Given the description of an element on the screen output the (x, y) to click on. 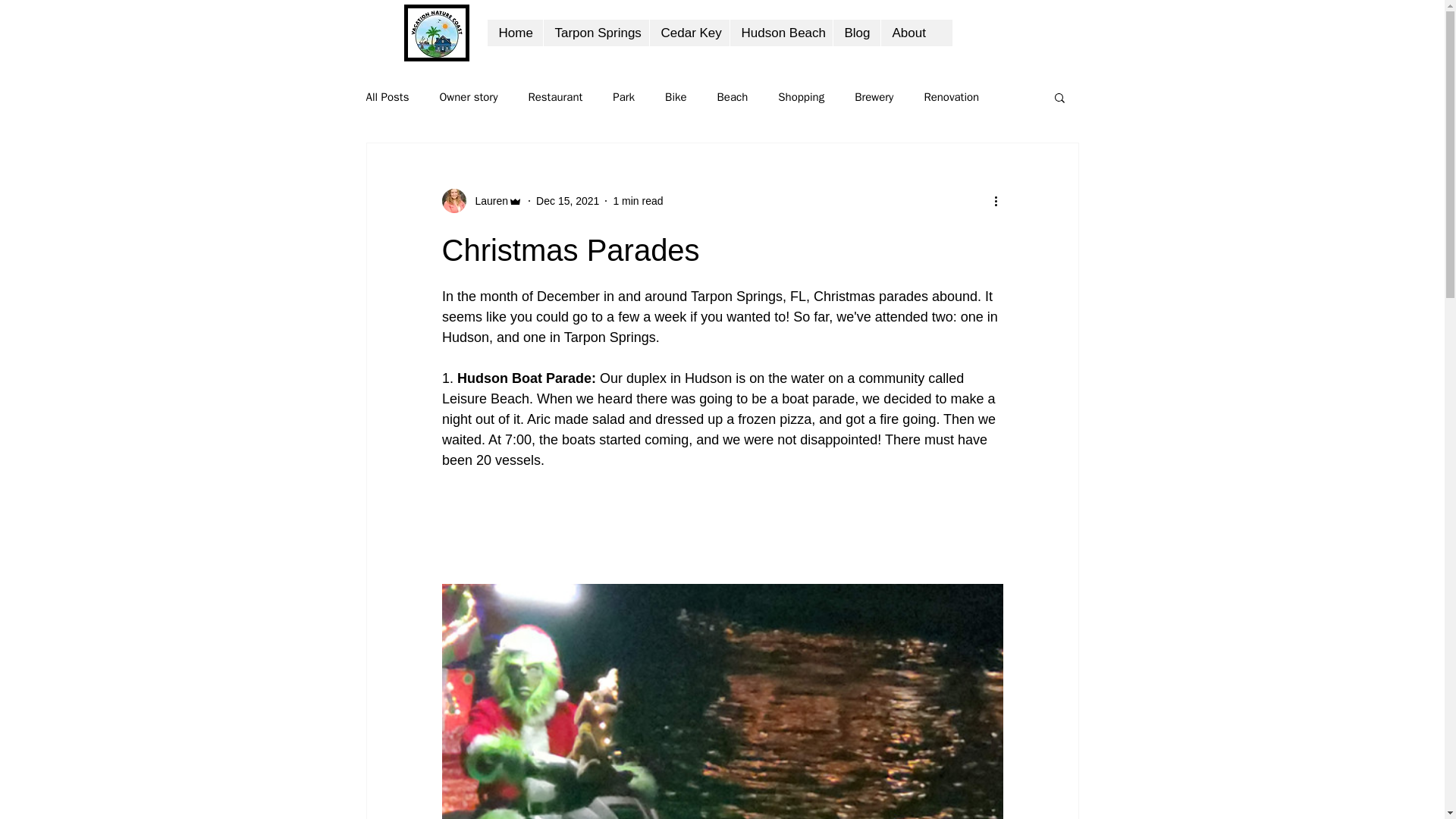
1 min read (637, 200)
Home (513, 32)
Blog (856, 32)
Renovation (950, 96)
Owner story (468, 96)
Shopping (800, 96)
Restaurant (554, 96)
Cedar Key (689, 32)
Dec 15, 2021 (566, 200)
Hudson Beach (780, 32)
